Given the description of an element on the screen output the (x, y) to click on. 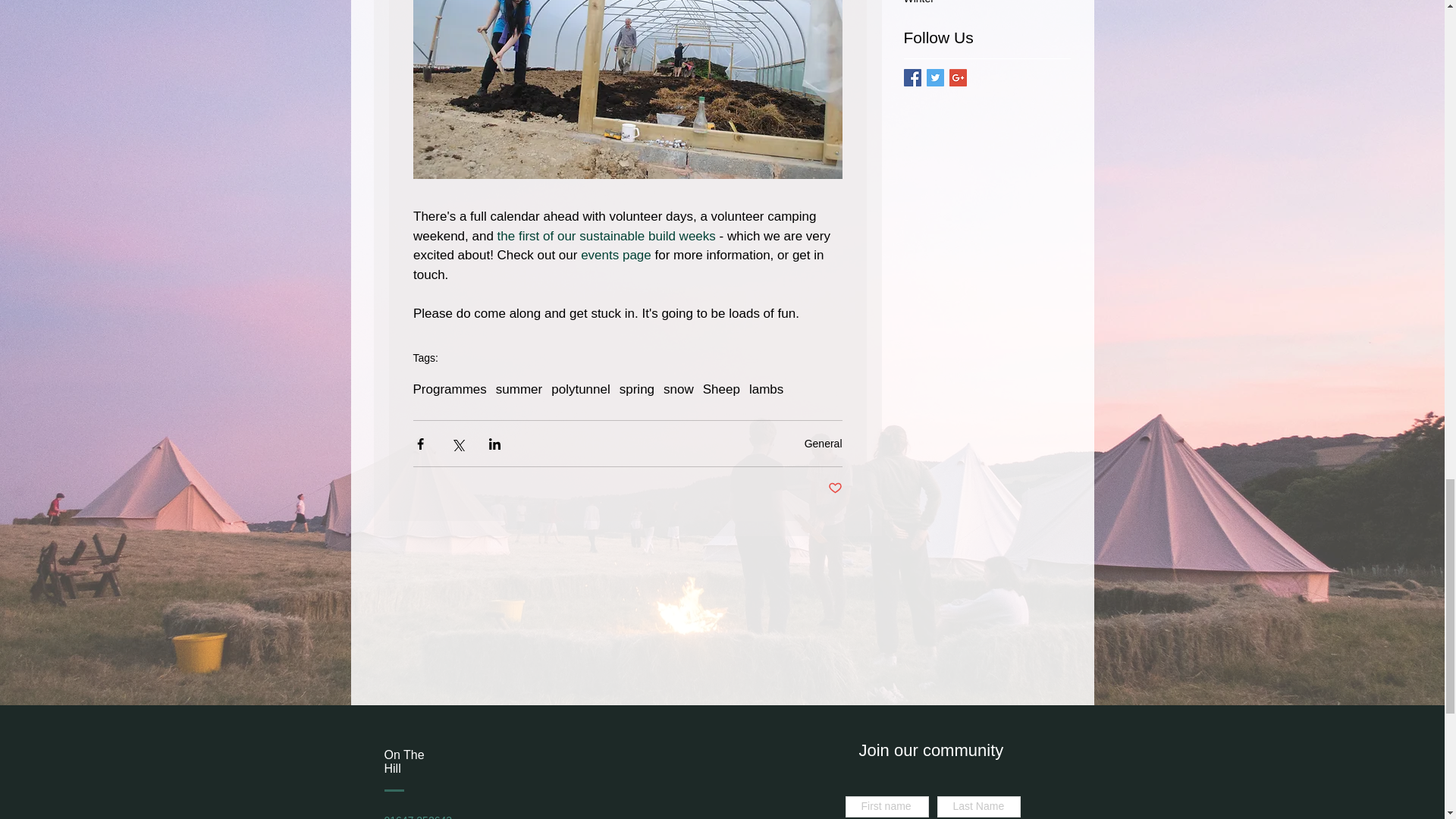
summer (518, 389)
the first of our sustainable build weeks (605, 236)
events page (615, 255)
spring (636, 389)
polytunnel (580, 389)
Sheep (721, 389)
snow (678, 389)
General (824, 443)
Programmes (449, 389)
lambs (766, 389)
